Given the description of an element on the screen output the (x, y) to click on. 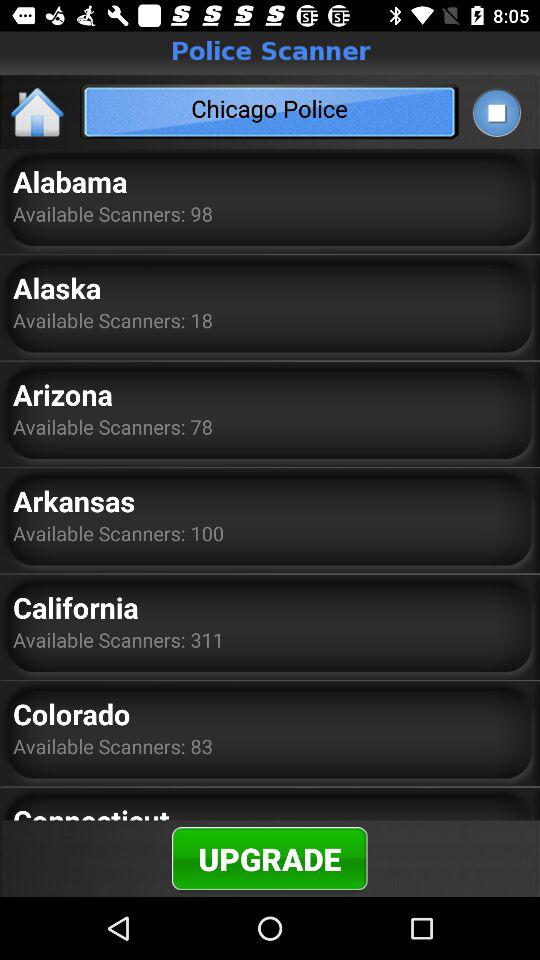
select the icon above the available scanners: 311 icon (75, 607)
